Given the description of an element on the screen output the (x, y) to click on. 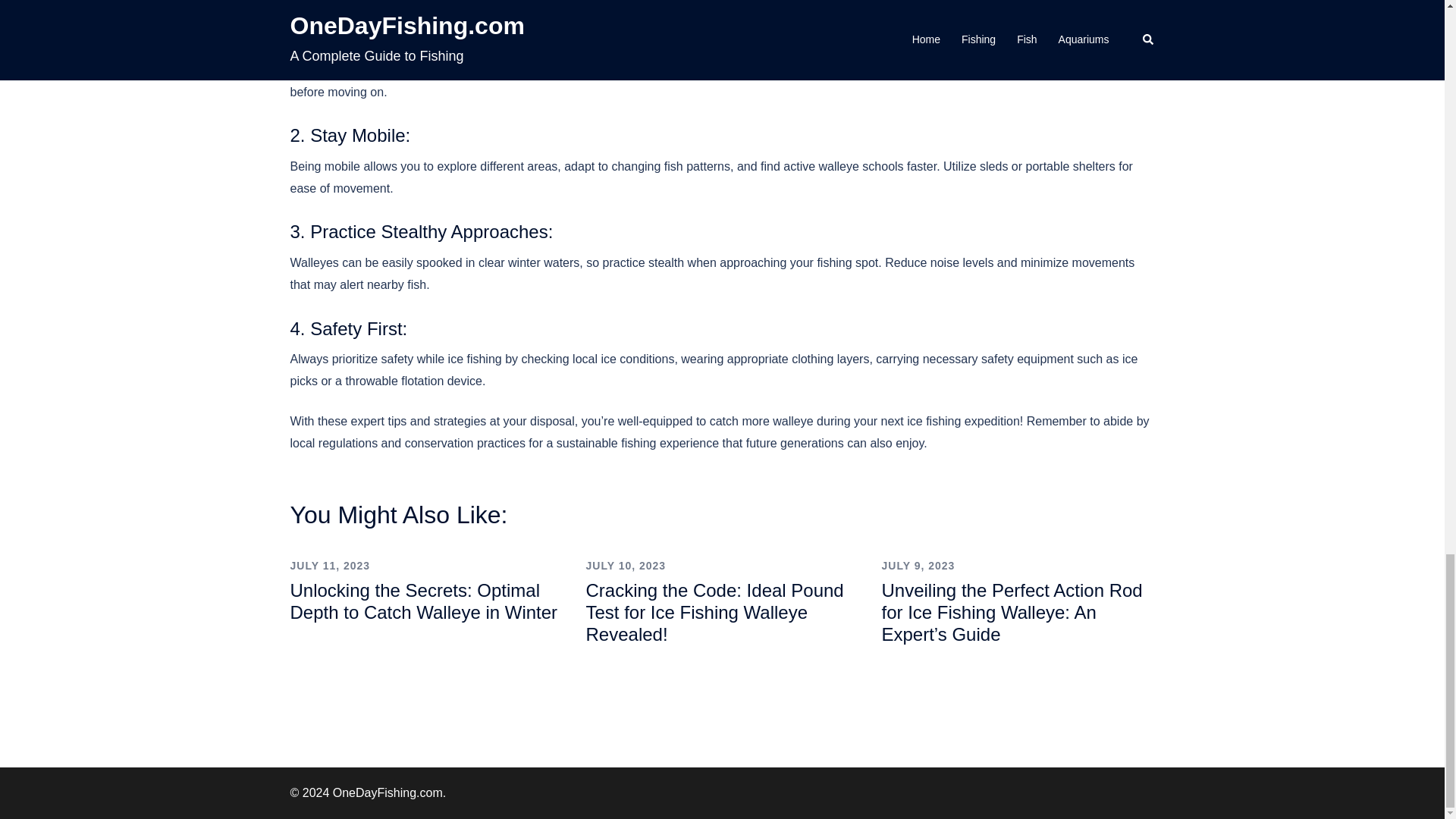
JULY 10, 2023 (625, 565)
JULY 11, 2023 (329, 565)
JULY 9, 2023 (917, 565)
